Given the description of an element on the screen output the (x, y) to click on. 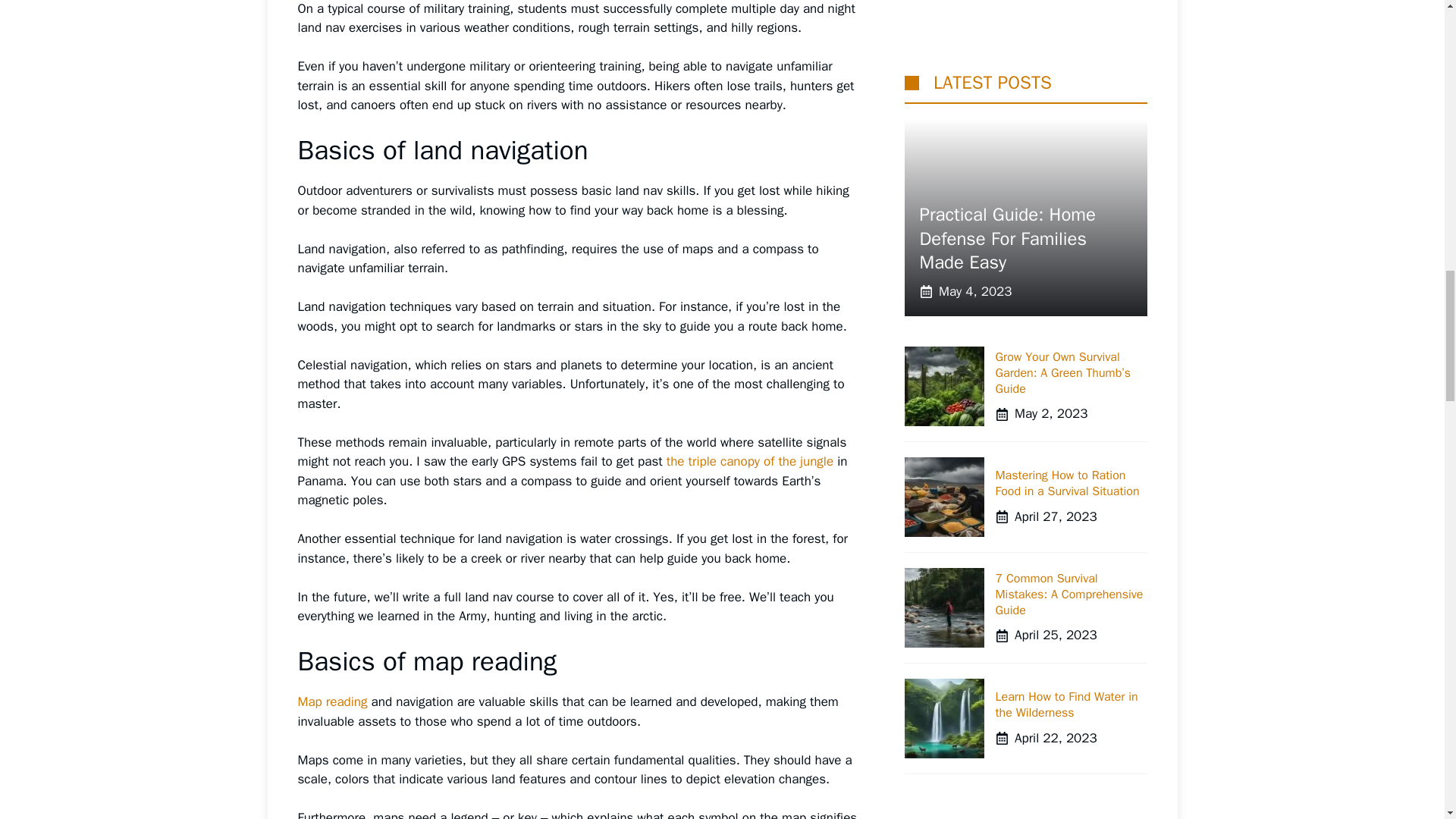
Map reading (331, 701)
the triple canopy of the jungle (749, 461)
